Given the description of an element on the screen output the (x, y) to click on. 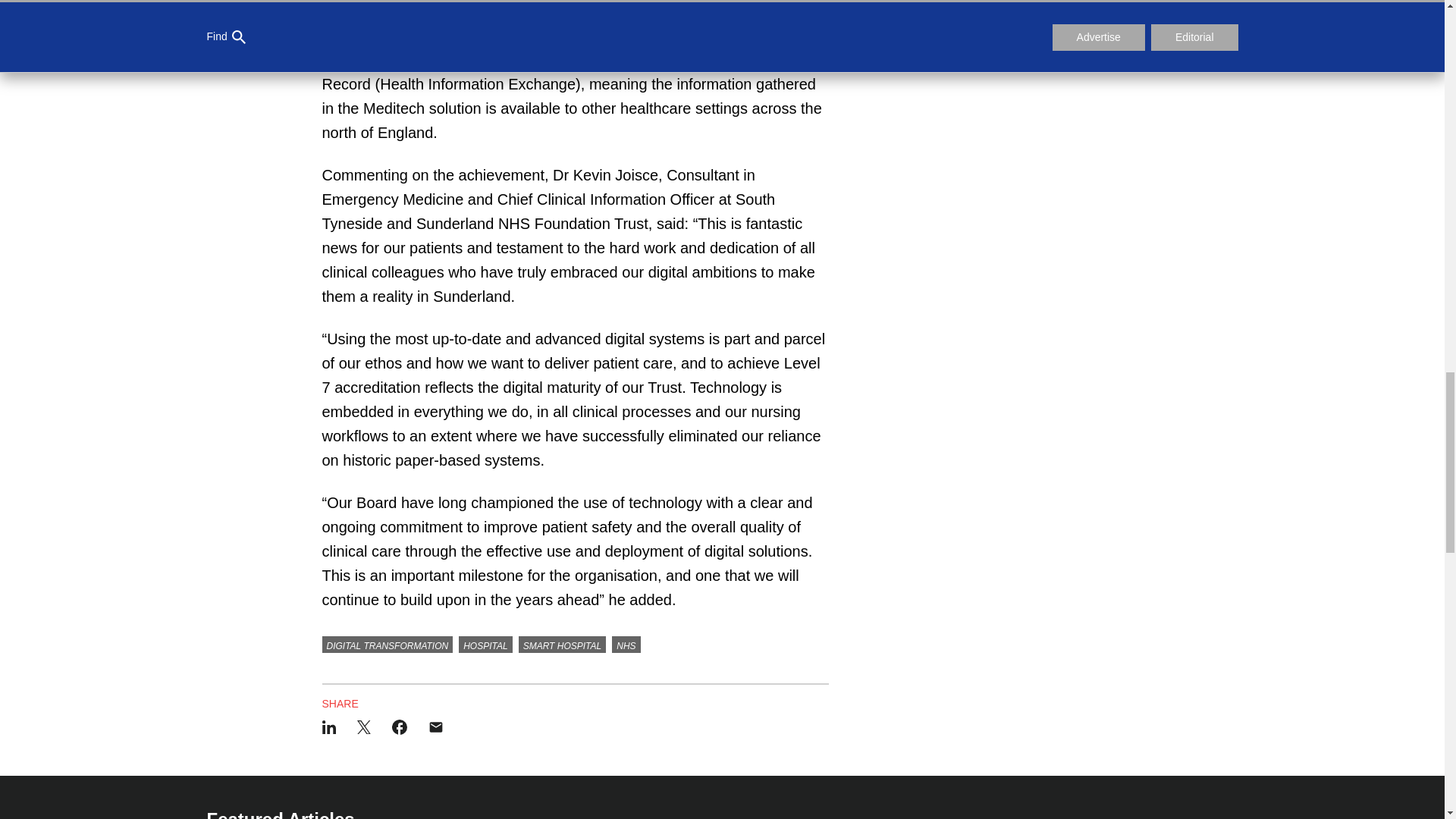
NHS (625, 644)
DIGITAL TRANSFORMATION (386, 644)
HOSPITAL (485, 644)
SMART HOSPITAL (562, 644)
